Given the description of an element on the screen output the (x, y) to click on. 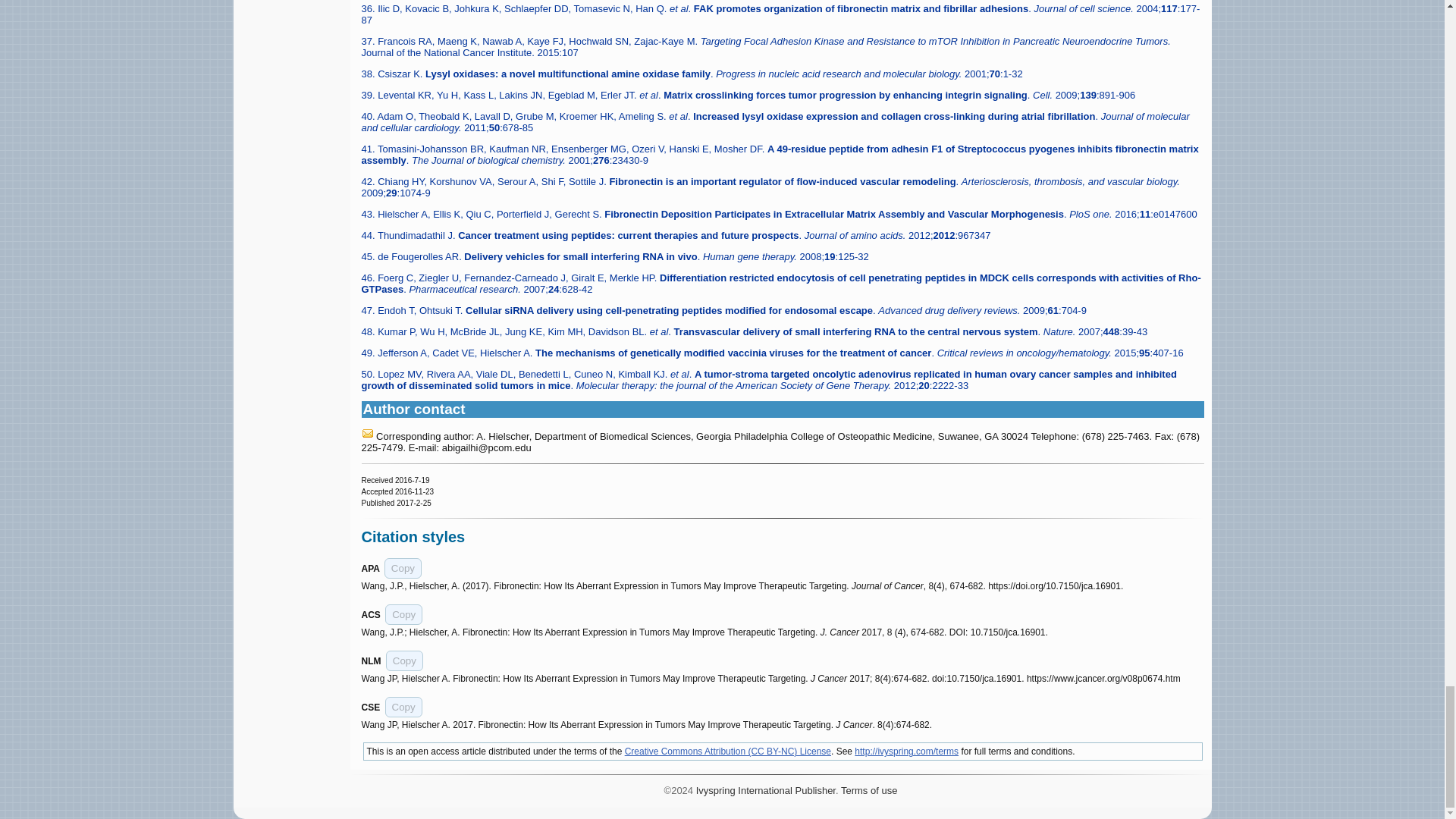
Copy to clipboard (403, 706)
Copy to clipboard (403, 567)
Copy to clipboard (403, 614)
Copy to clipboard (404, 660)
